Given the description of an element on the screen output the (x, y) to click on. 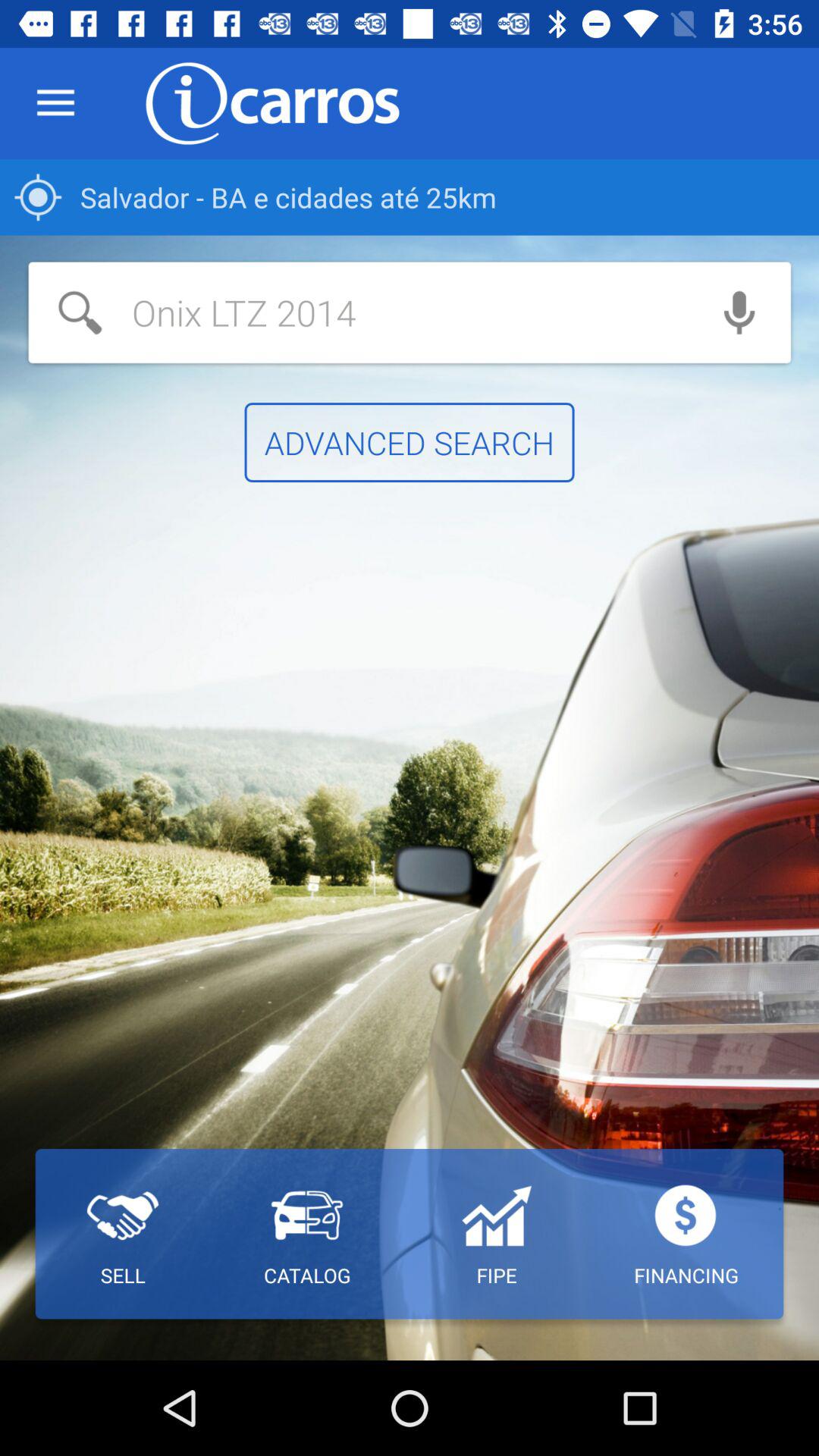
choose the item to the left of the financing (496, 1233)
